Given the description of an element on the screen output the (x, y) to click on. 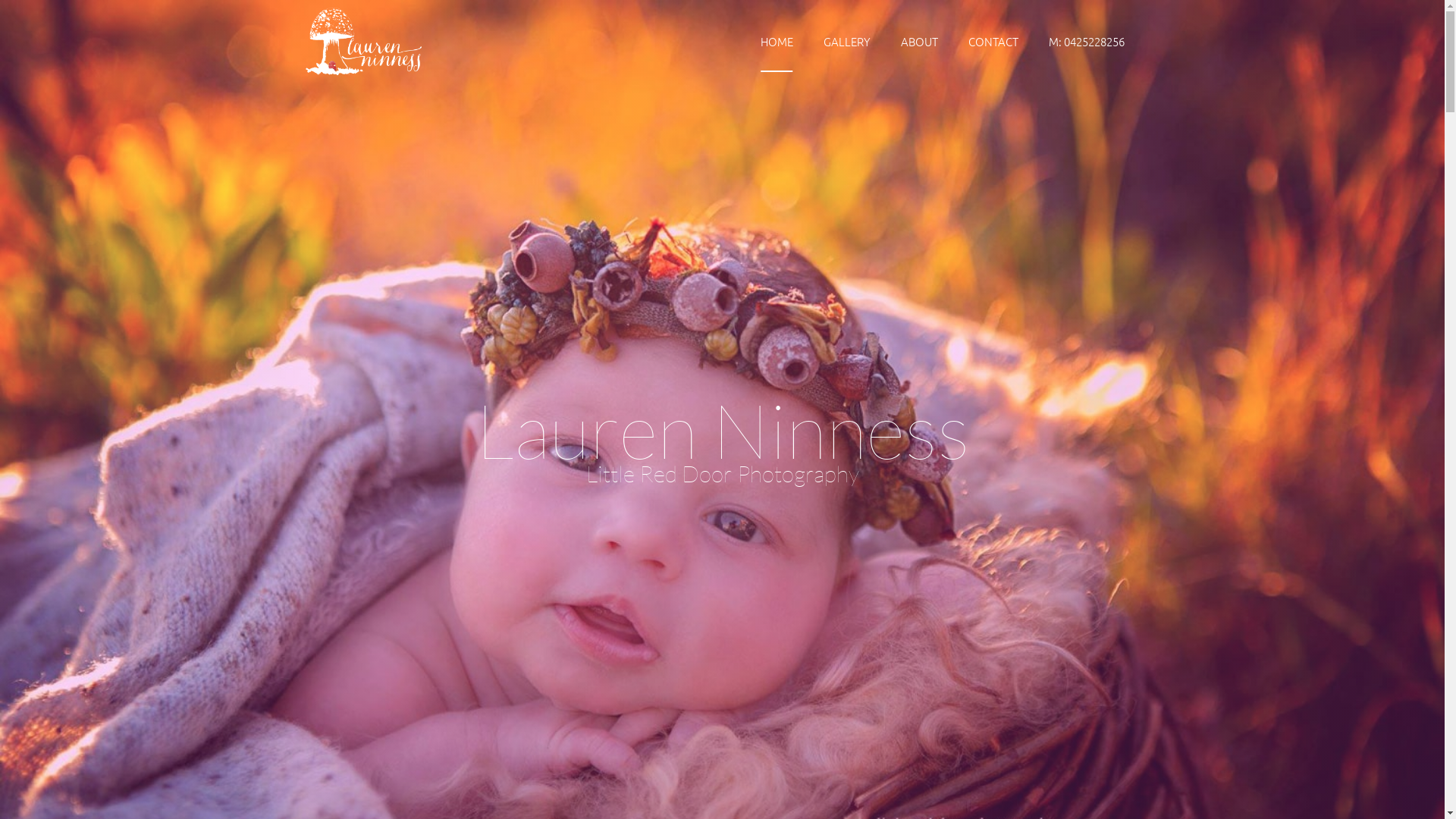
GALLERY Element type: text (846, 41)
CONTACT Element type: text (992, 41)
HOME Element type: text (775, 41)
M: 0425228256 Element type: text (1085, 41)
Little Red Door Photography Element type: hover (363, 41)
ABOUT Element type: text (919, 41)
